Given the description of an element on the screen output the (x, y) to click on. 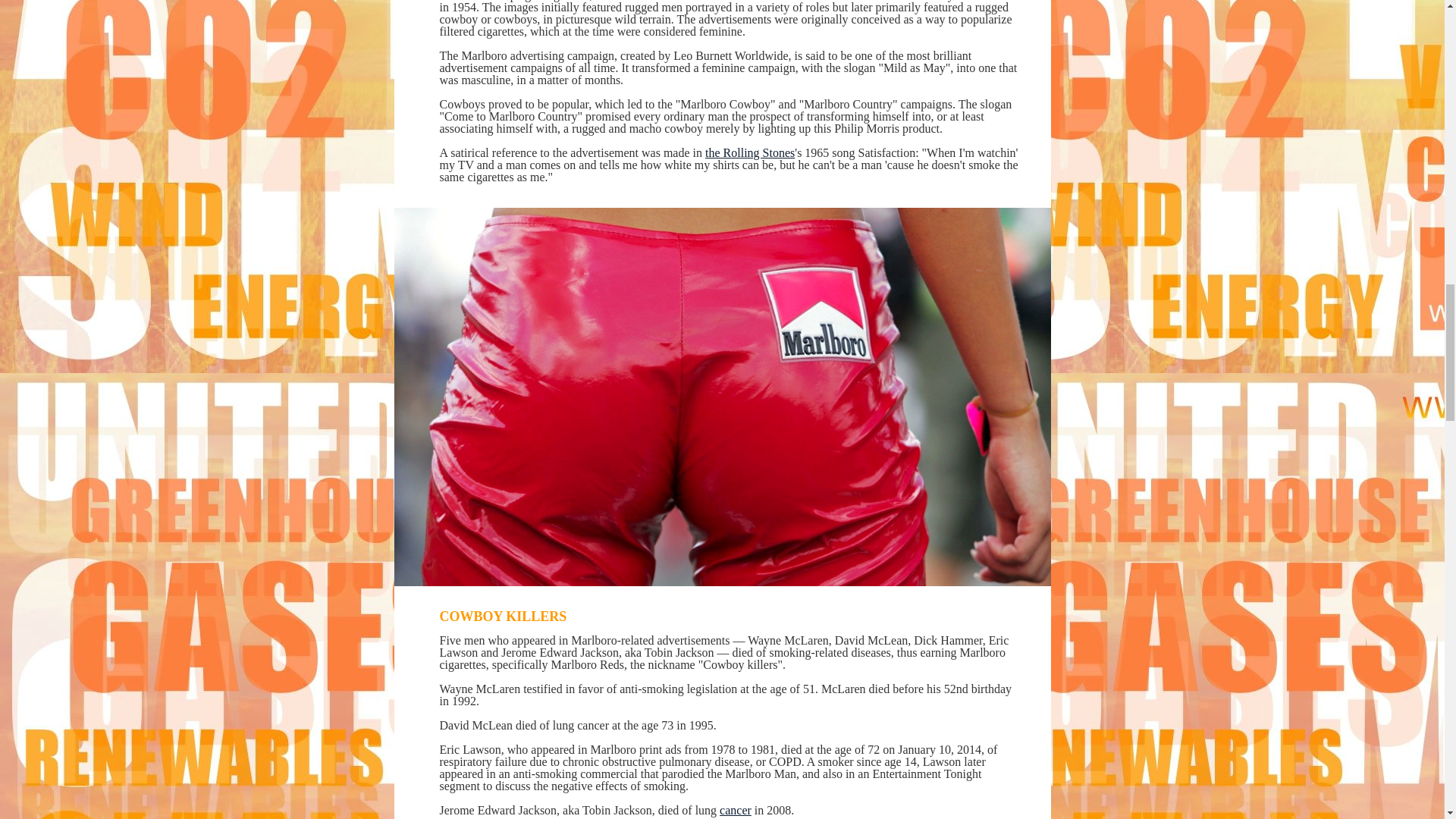
the Rolling Stones (749, 152)
cancer (735, 809)
